Given the description of an element on the screen output the (x, y) to click on. 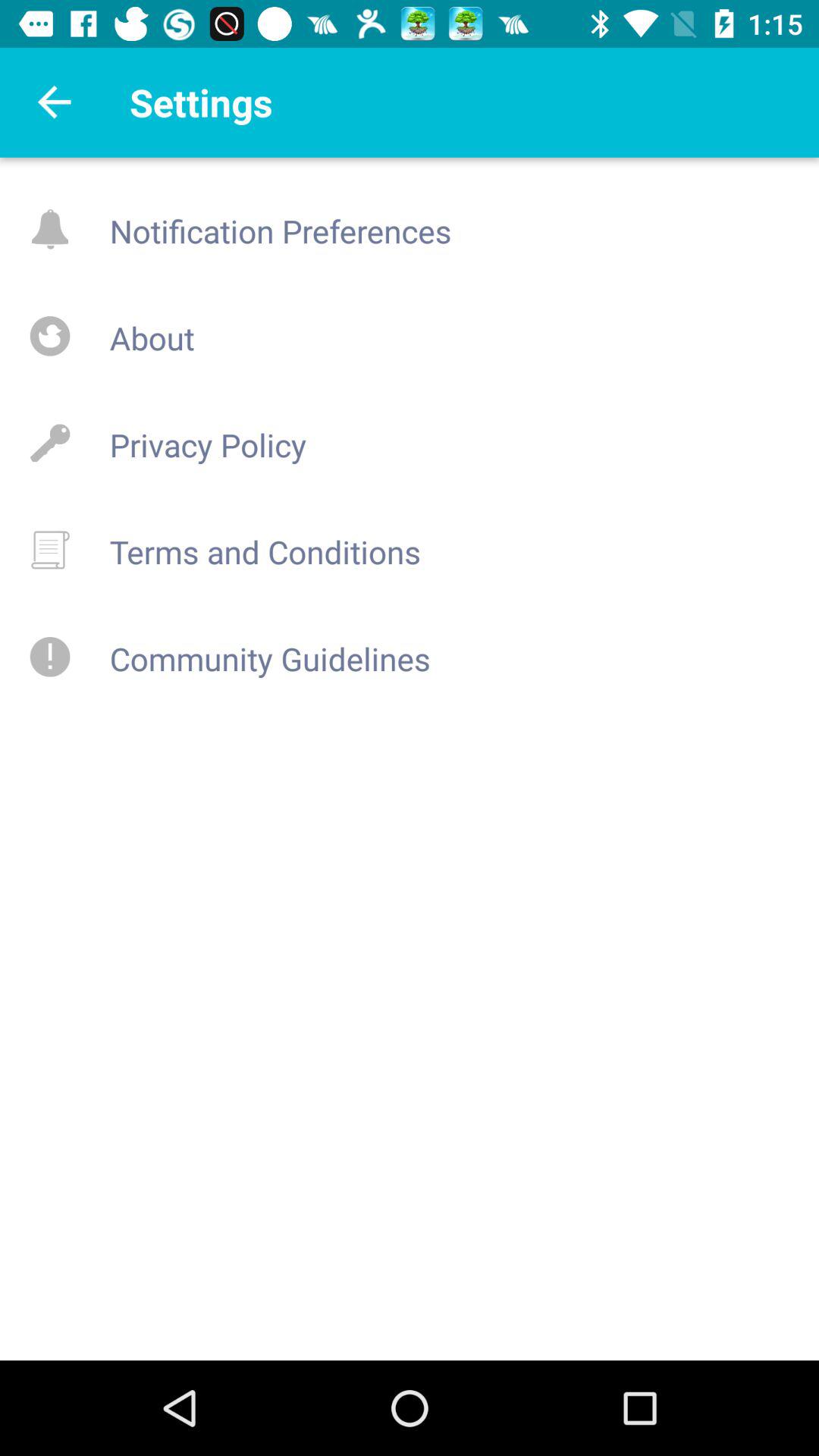
click on the icon beside notification preferences (49, 228)
